Given the description of an element on the screen output the (x, y) to click on. 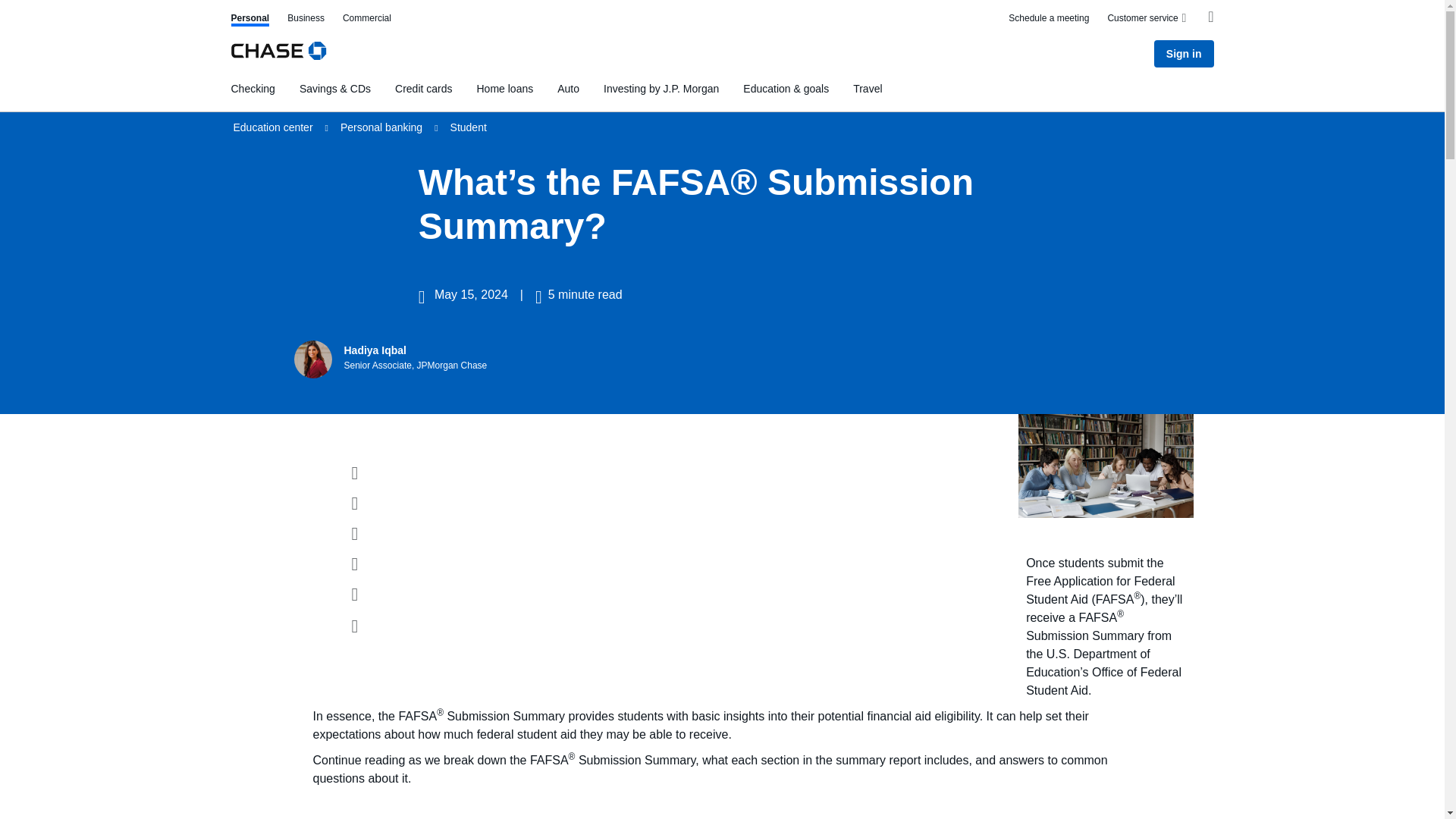
Auto (568, 88)
Schedule a meeting (1049, 19)
Home loans (504, 88)
Business (305, 19)
Investing by J.P. Morgan (661, 88)
Chase logo, links to Chase home (278, 53)
Customer service (1147, 18)
Credit cards (249, 19)
Sign in (422, 88)
